Given the description of an element on the screen output the (x, y) to click on. 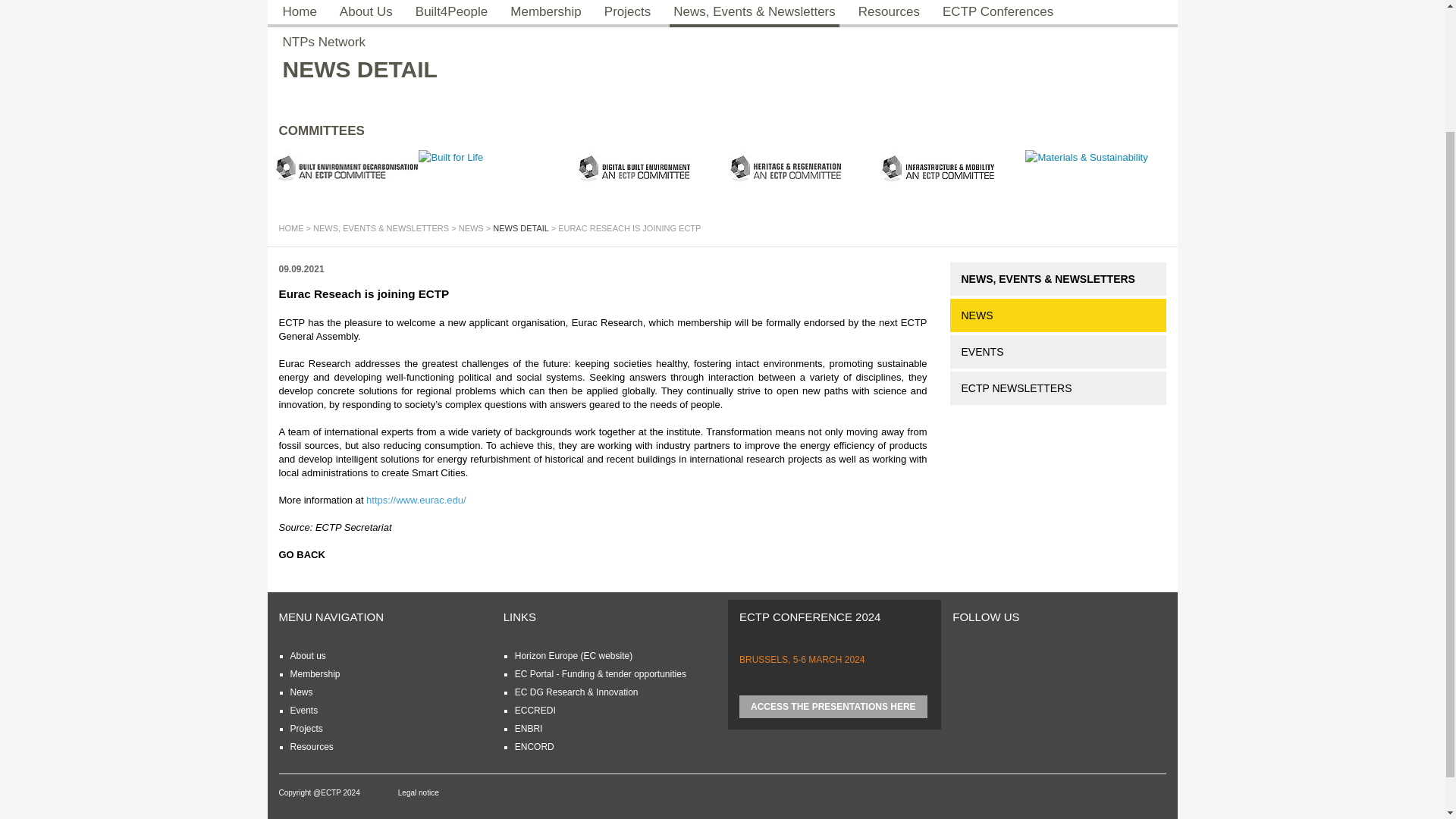
Home (291, 227)
Opens internal link in current window (301, 692)
News (470, 227)
Resources (888, 13)
Opens internal link in current window (314, 674)
Digital Built Environment (646, 168)
Opens internal link in current window (306, 655)
About Us (366, 13)
ECTP Conferences (998, 13)
Home (299, 13)
